Given the description of an element on the screen output the (x, y) to click on. 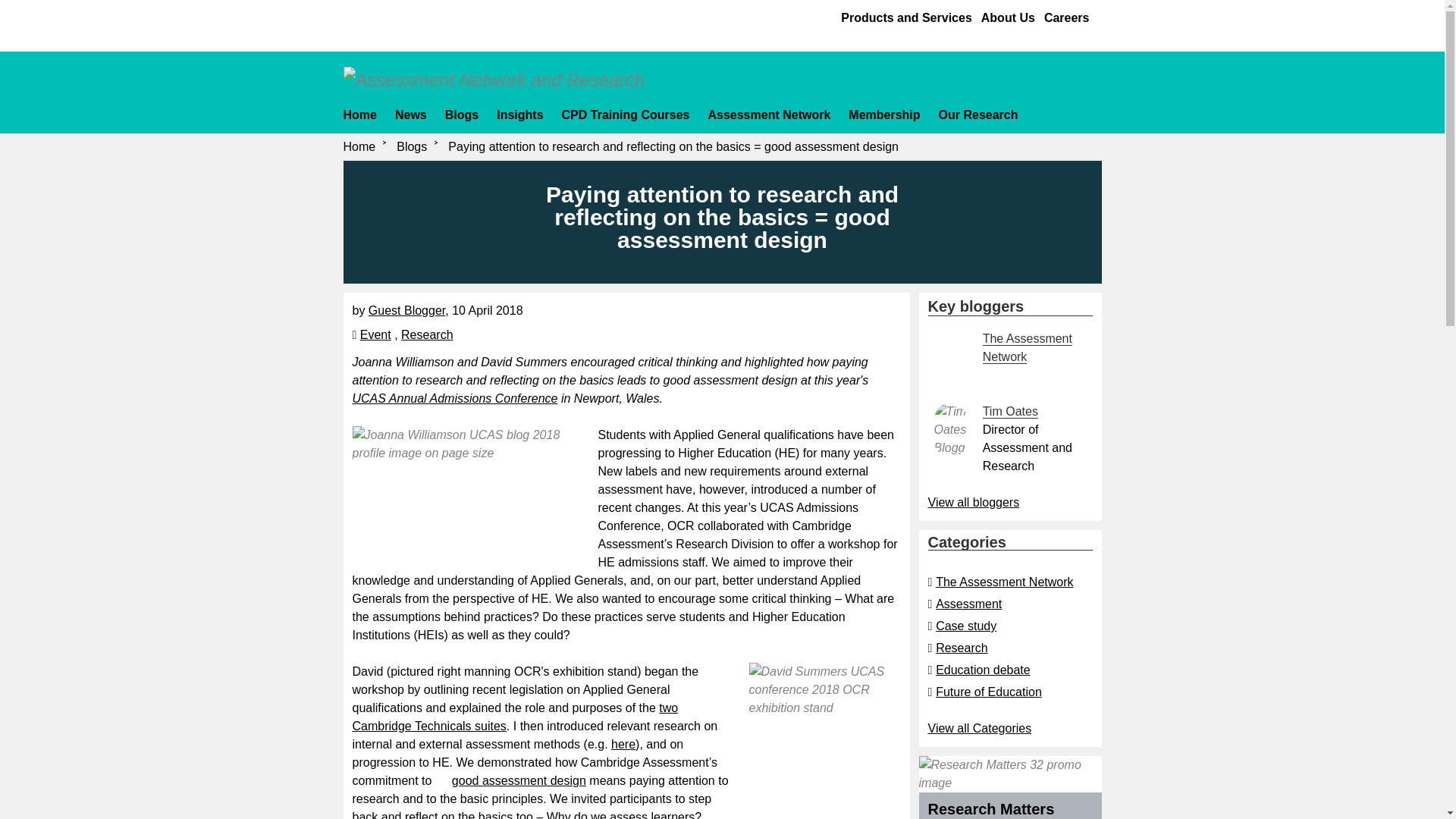
About Us (1008, 18)
Products and Services (906, 18)
Cambridge (403, 22)
Careers (1066, 18)
Products and Services (906, 18)
About Us (1008, 18)
